Given the description of an element on the screen output the (x, y) to click on. 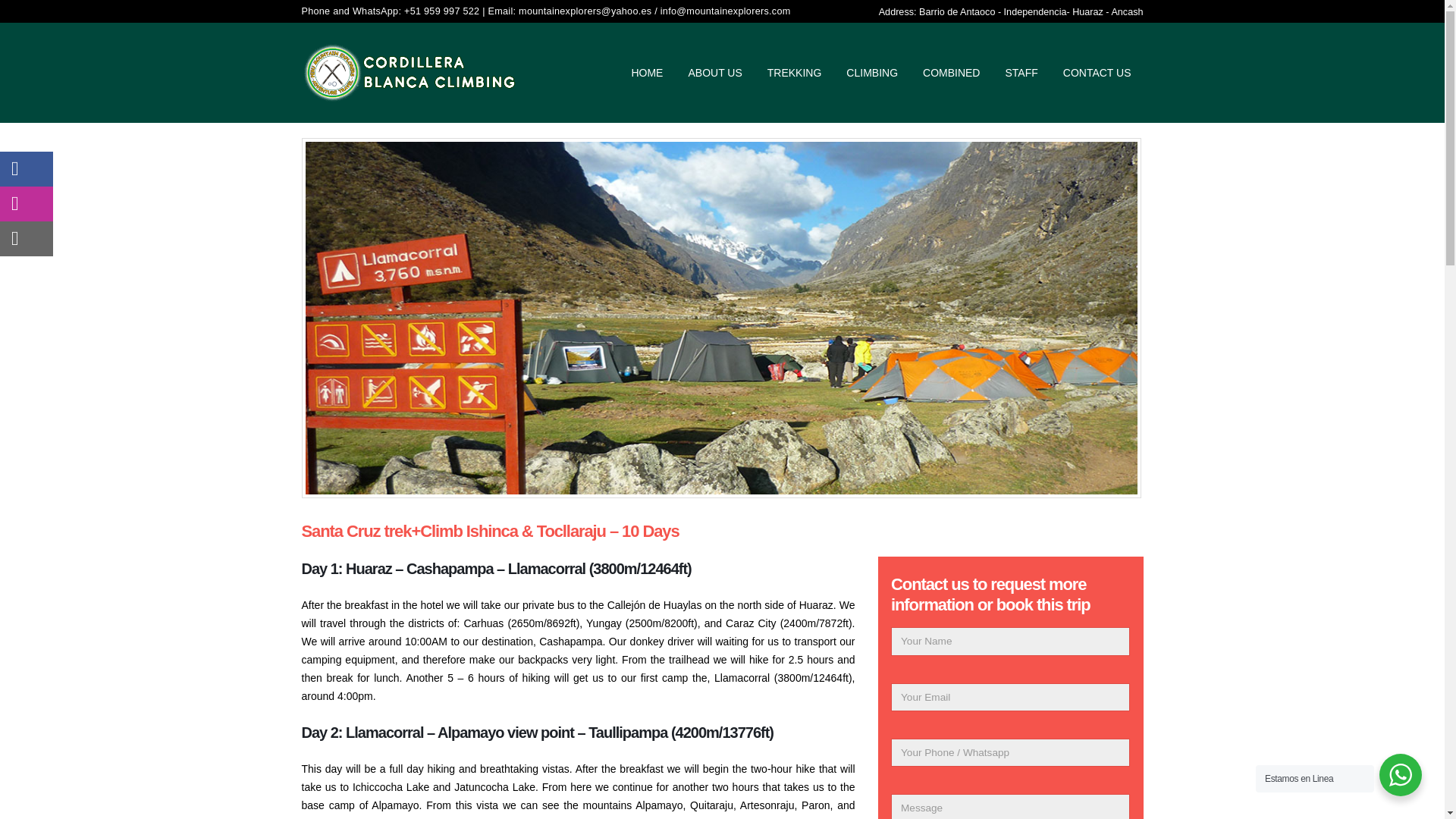
CONTACT US (1096, 72)
STAFF (1020, 72)
COMBINED (951, 72)
HOME (646, 72)
CLIMBING (872, 72)
ABOUT US (714, 72)
TREKKING (794, 72)
